Given the description of an element on the screen output the (x, y) to click on. 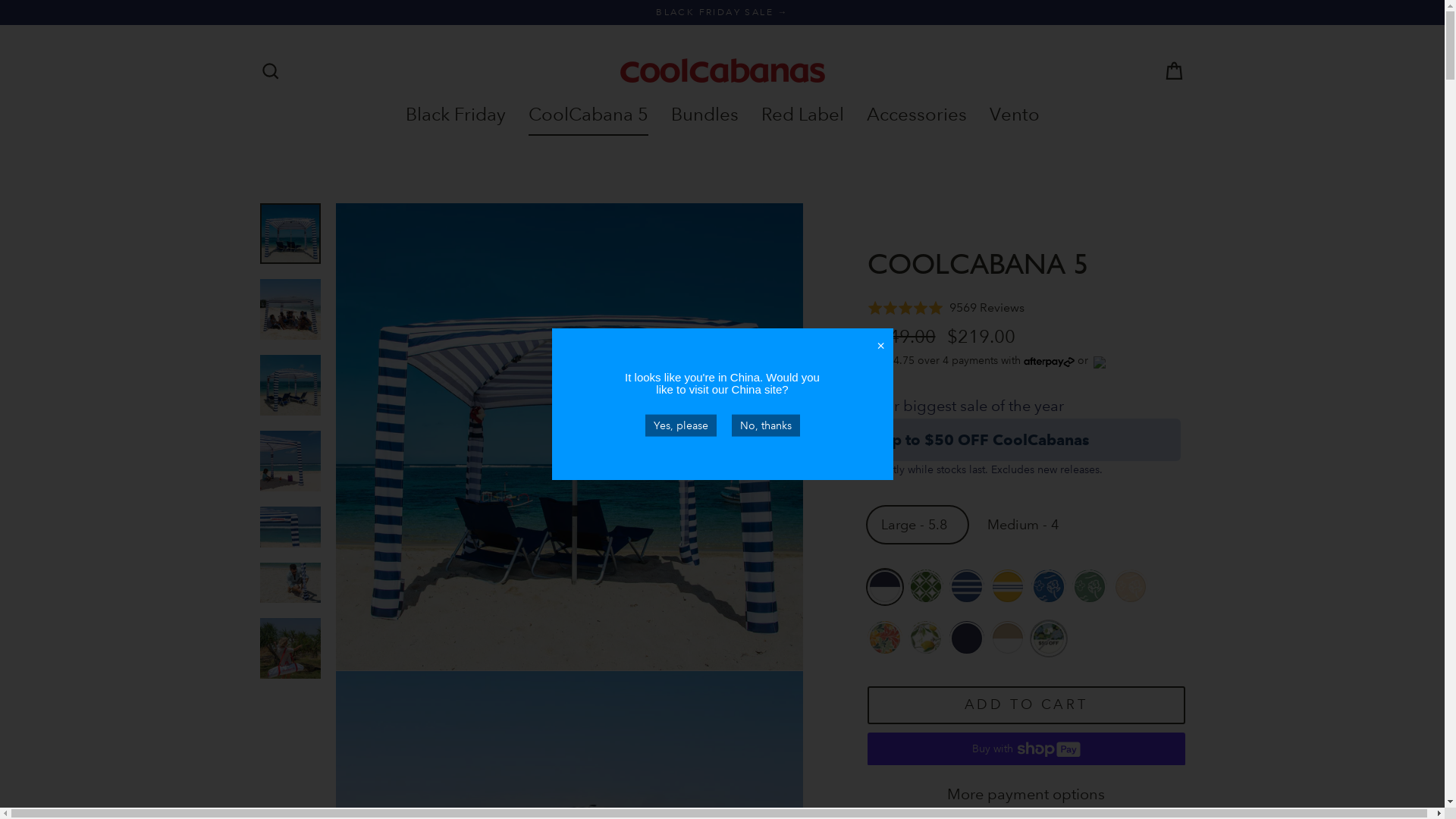
Vento Element type: text (1014, 113)
No, thanks Element type: text (765, 425)
Accessories Element type: text (916, 113)
Yes, please Element type: text (679, 425)
Search Element type: text (269, 70)
Skip to content Element type: text (0, 0)
Bundles Element type: text (704, 113)
Cart Element type: text (1173, 70)
Black Friday Element type: text (455, 113)
CoolCabana 5 Element type: text (588, 113)
More payment options Element type: text (1026, 794)
Red Label Element type: text (801, 113)
ADD TO CART Element type: text (1026, 705)
